Given the description of an element on the screen output the (x, y) to click on. 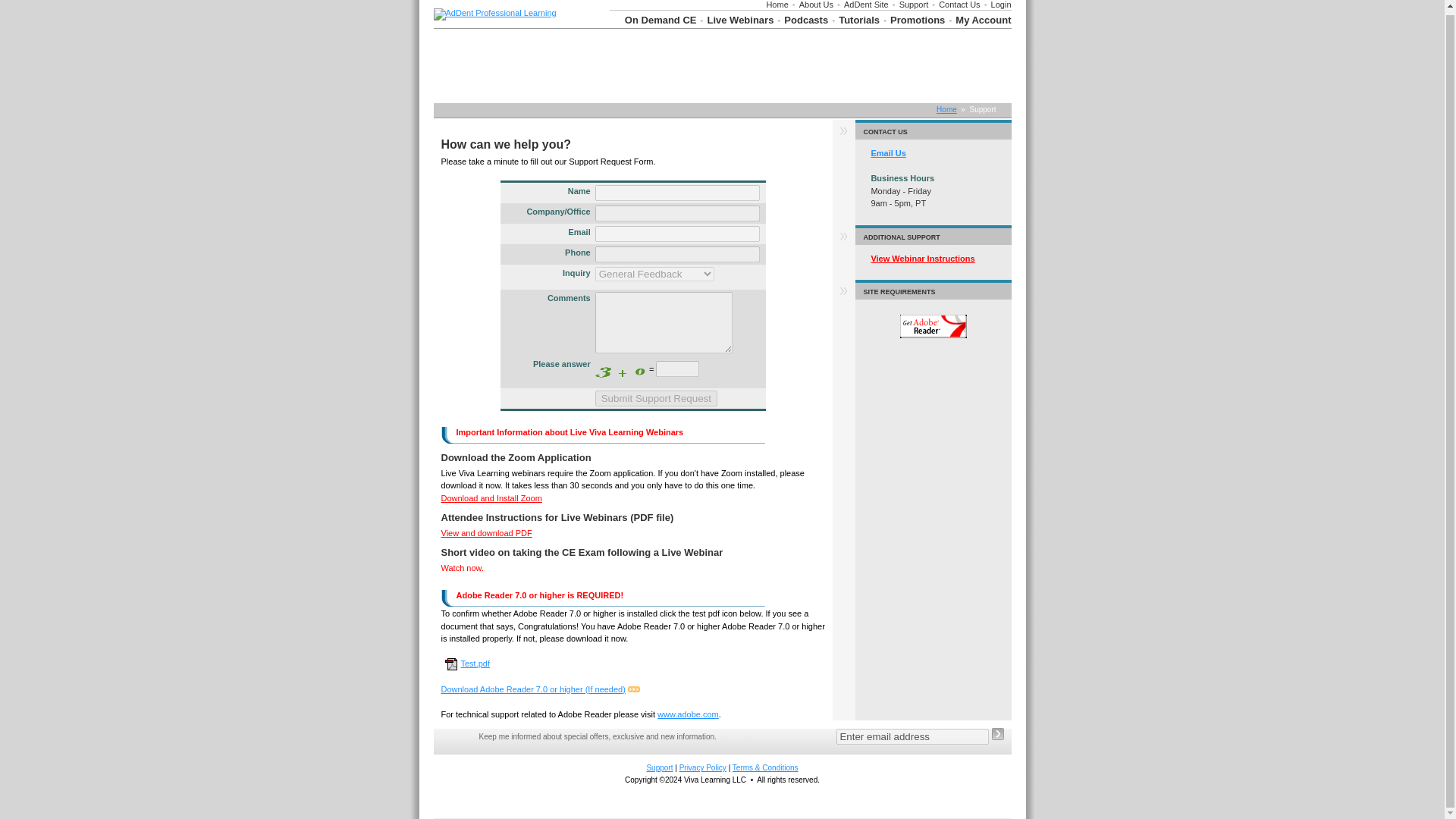
Submit Support Request (656, 398)
Privacy Policy (702, 767)
Live Webinars (739, 19)
home page (494, 12)
Podcasts (806, 19)
View Webinar Instructions (922, 257)
Submit Support Request (656, 398)
Home (946, 109)
View in Video Player - Click background to close (462, 567)
Home (776, 4)
